Given the description of an element on the screen output the (x, y) to click on. 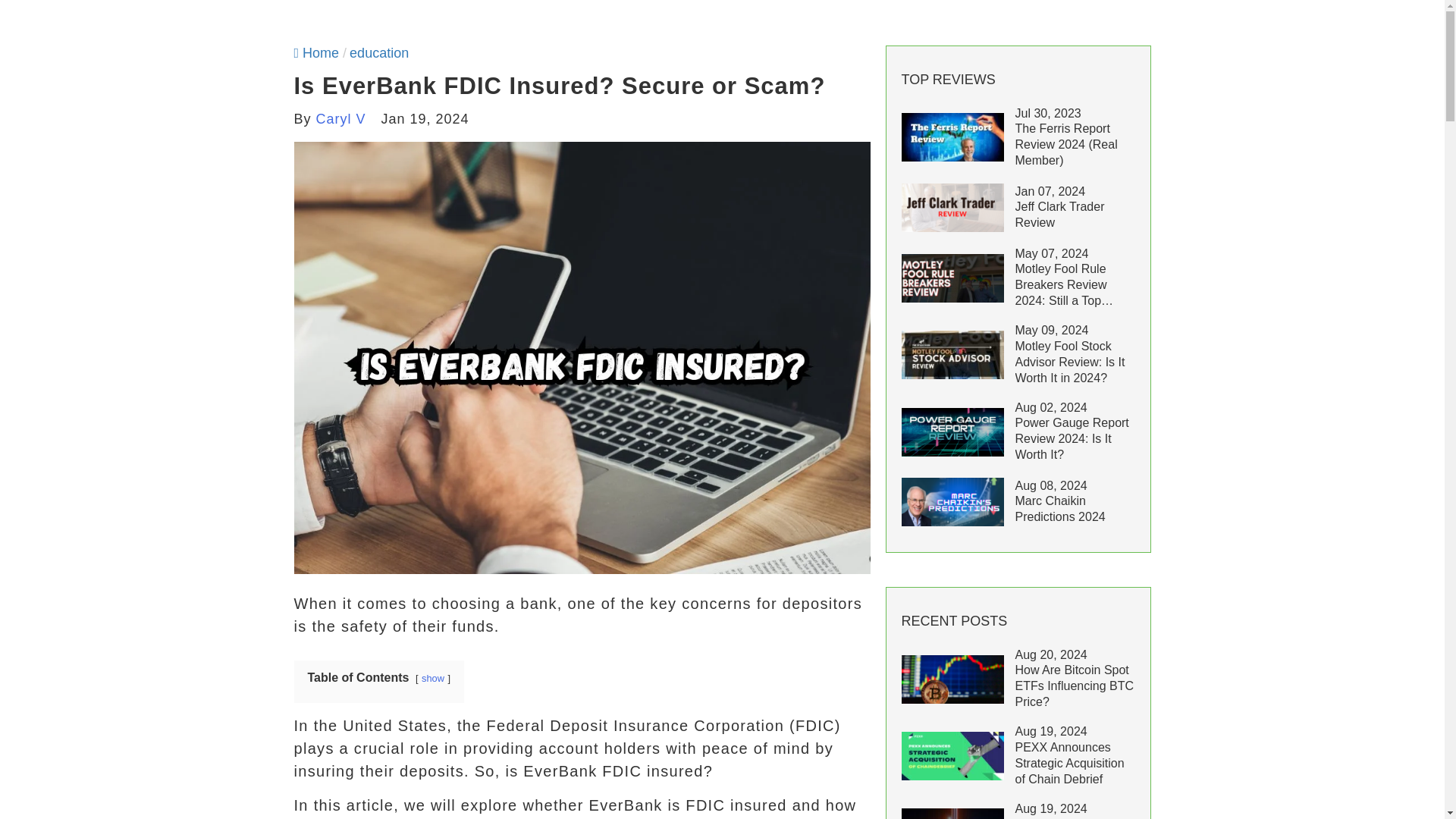
Caryl V (340, 118)
education (379, 52)
show (433, 677)
Home (316, 52)
Category Name (379, 52)
